Given the description of an element on the screen output the (x, y) to click on. 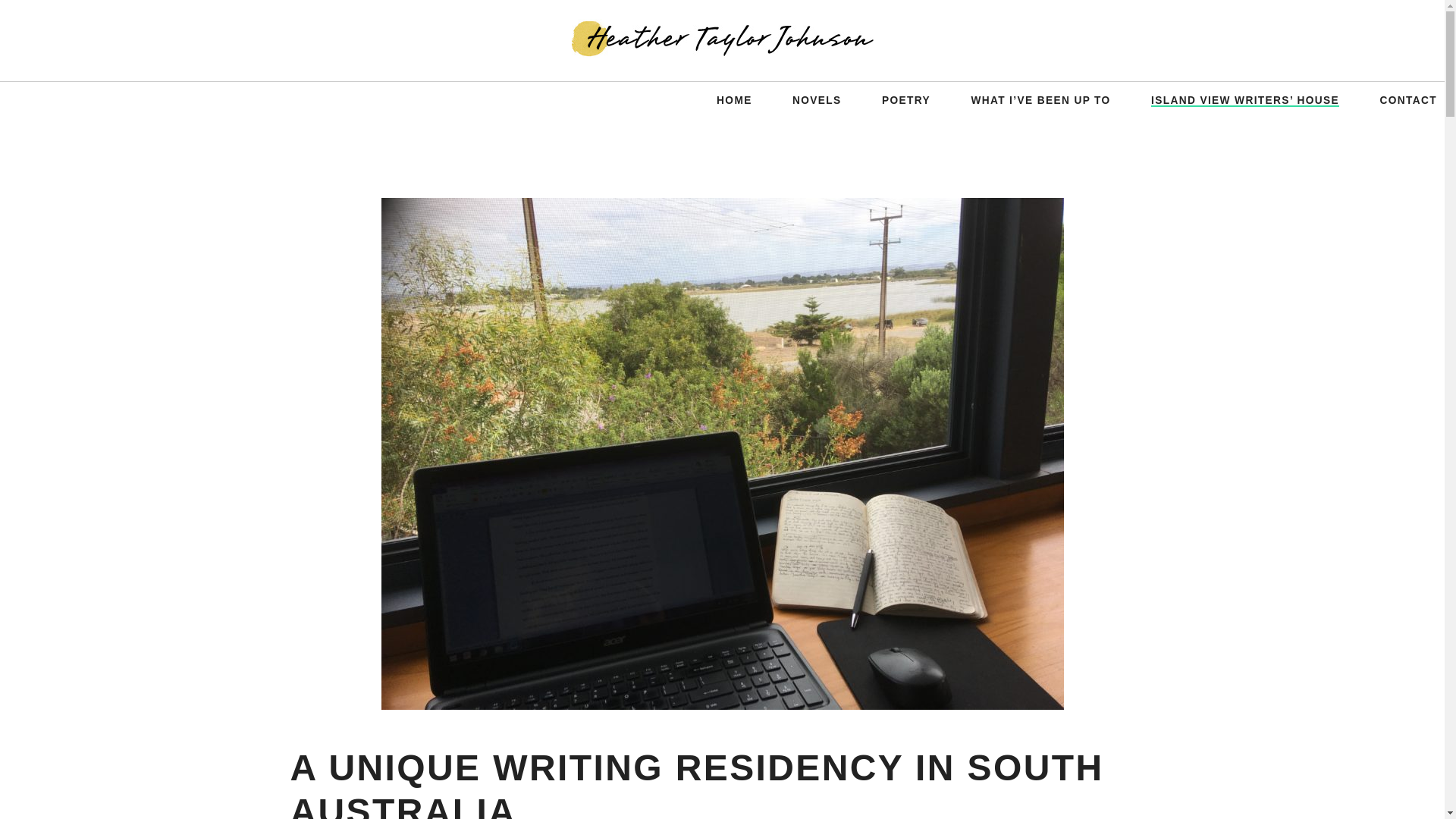
HOME (734, 100)
POETRY (906, 100)
NOVELS (816, 100)
Built Agency (163, 787)
CONTACT (1407, 100)
